Given the description of an element on the screen output the (x, y) to click on. 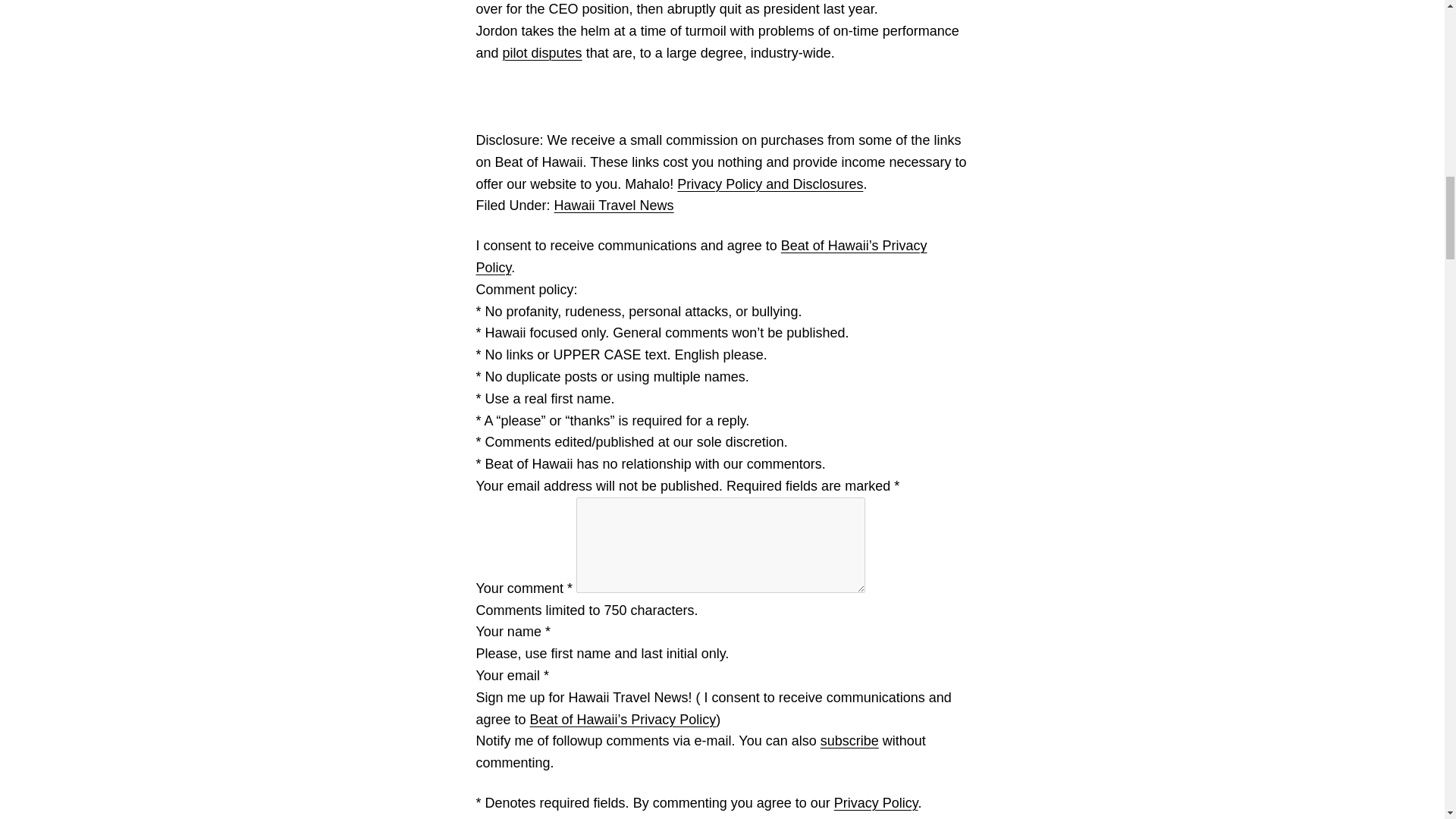
pilot disputes (542, 52)
Hawaii Travel News (614, 205)
Beat of Hawaii Privacy Policy (701, 256)
Privacy Policy and Disclosures (770, 183)
subscribe (850, 740)
Privacy Policy (876, 802)
Beat of Hawaii Privacy Policy (622, 719)
